Given the description of an element on the screen output the (x, y) to click on. 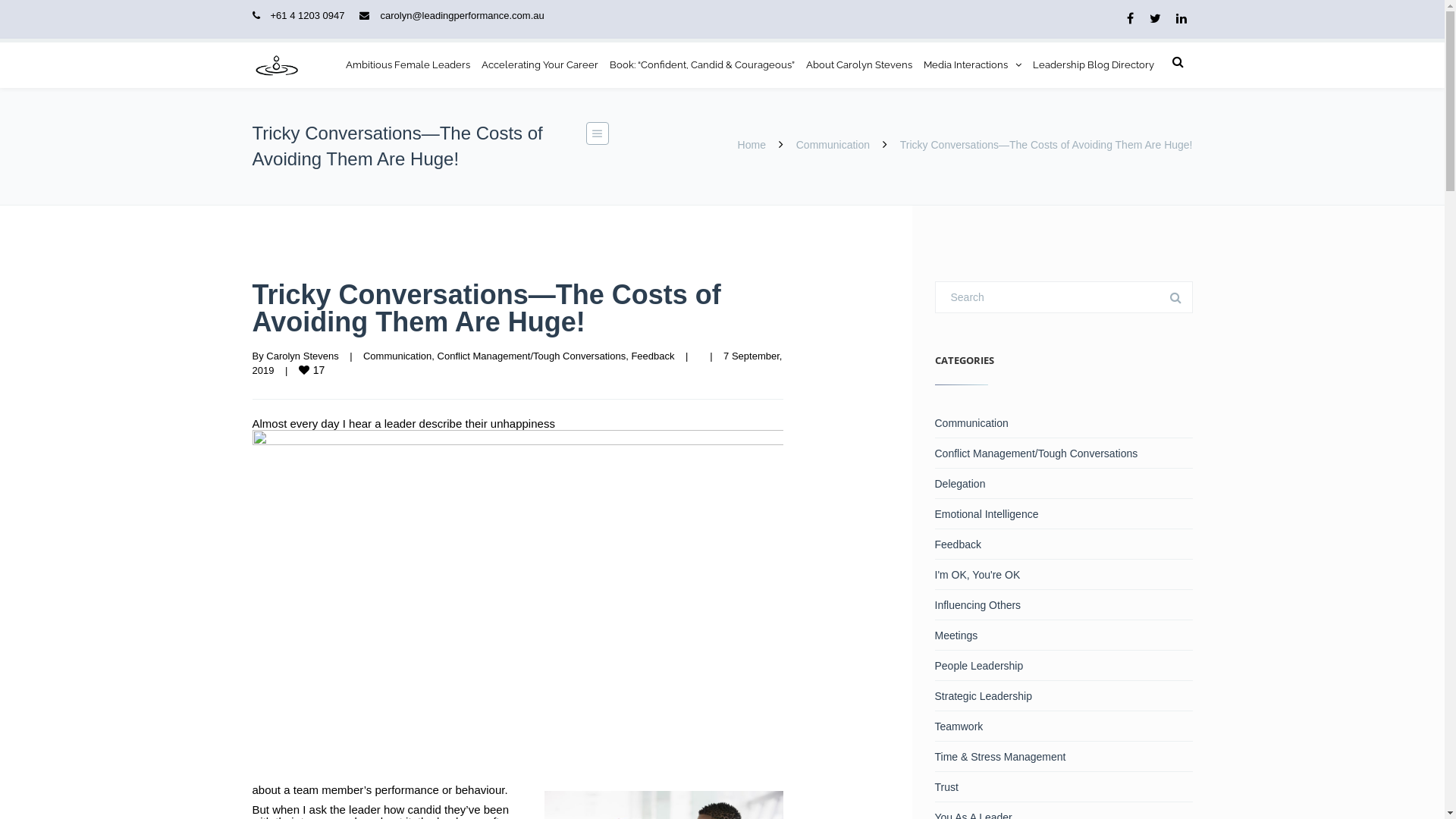
Leadership Blog Directory Element type: text (1093, 64)
Feedback Element type: text (652, 355)
Teamwork Element type: text (1063, 725)
carolyn@leadingperformance.com.au Element type: text (461, 15)
Communication Element type: text (1063, 422)
Conflict Management/Tough Conversations Element type: text (1063, 452)
Accelerating Your Career Element type: text (539, 64)
Carolyn Stevens Element type: text (302, 355)
I'm OK, You're OK Element type: text (1063, 574)
Ambitious Female Leaders Element type: text (407, 64)
Trust Element type: text (1063, 786)
17  Element type: text (312, 370)
Delegation Element type: text (1063, 483)
Time & Stress Management Element type: text (1063, 756)
People Leadership Element type: text (1063, 665)
About Carolyn Stevens Element type: text (858, 64)
Leading Performance Element type: hover (275, 65)
Strategic Leadership Element type: text (1063, 695)
Home Element type: text (751, 144)
Communication Element type: text (832, 144)
Communication Element type: text (397, 355)
Emotional Intelligence Element type: text (1063, 513)
Meetings Element type: text (1063, 634)
Influencing Others Element type: text (1063, 604)
Conflict Management/Tough Conversations Element type: text (531, 355)
Media Interactions Element type: text (972, 64)
Feedback Element type: text (1063, 543)
